Given the description of an element on the screen output the (x, y) to click on. 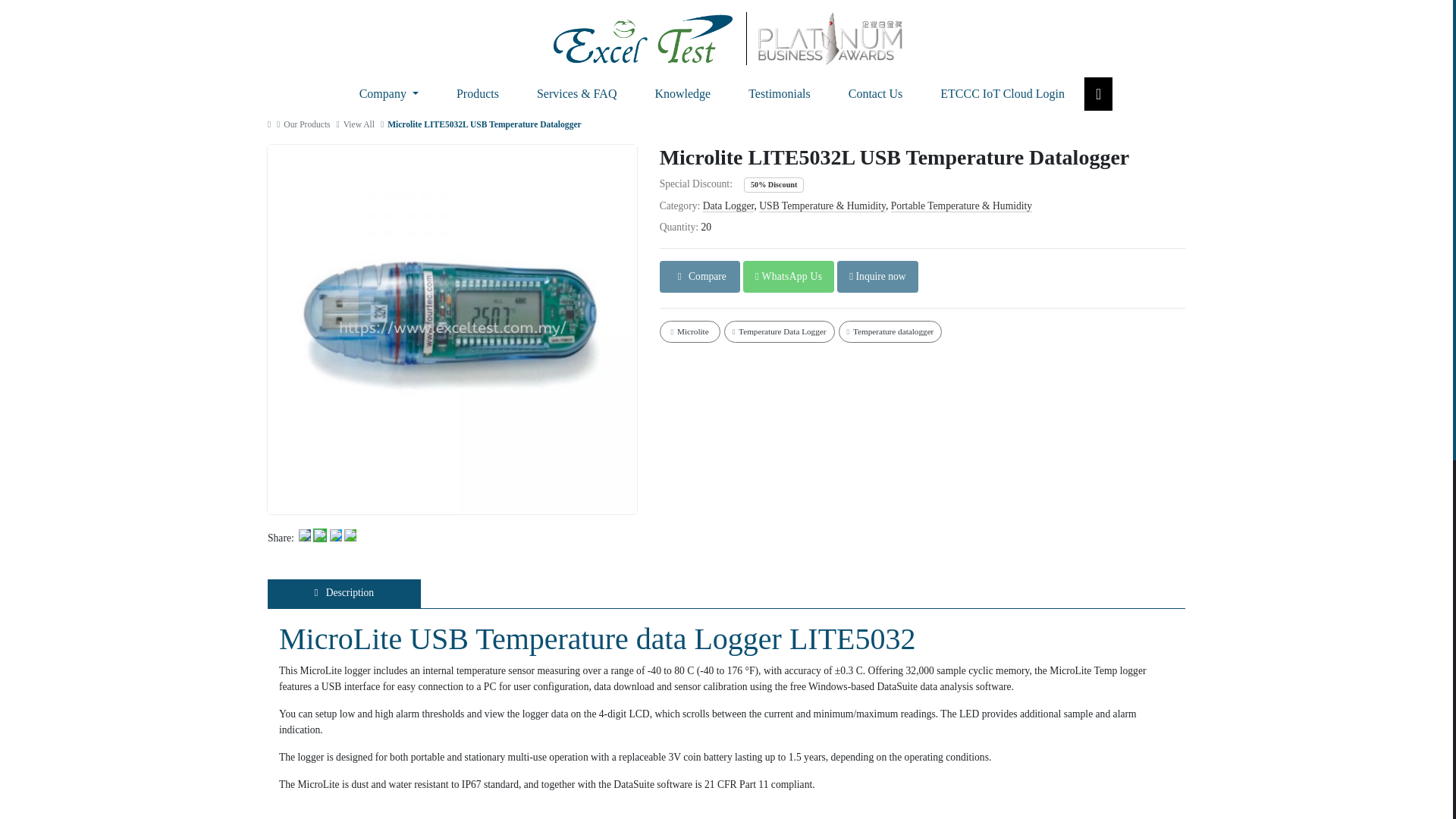
Company (389, 93)
Knowledge (681, 93)
Products (478, 93)
ETCCC IoT Cloud Login (1002, 93)
Shopping Cart (1098, 93)
Contact Us (875, 93)
Knowledge (681, 93)
Products (478, 93)
Platinum Business Awards (830, 38)
Testimonials (779, 93)
